Given the description of an element on the screen output the (x, y) to click on. 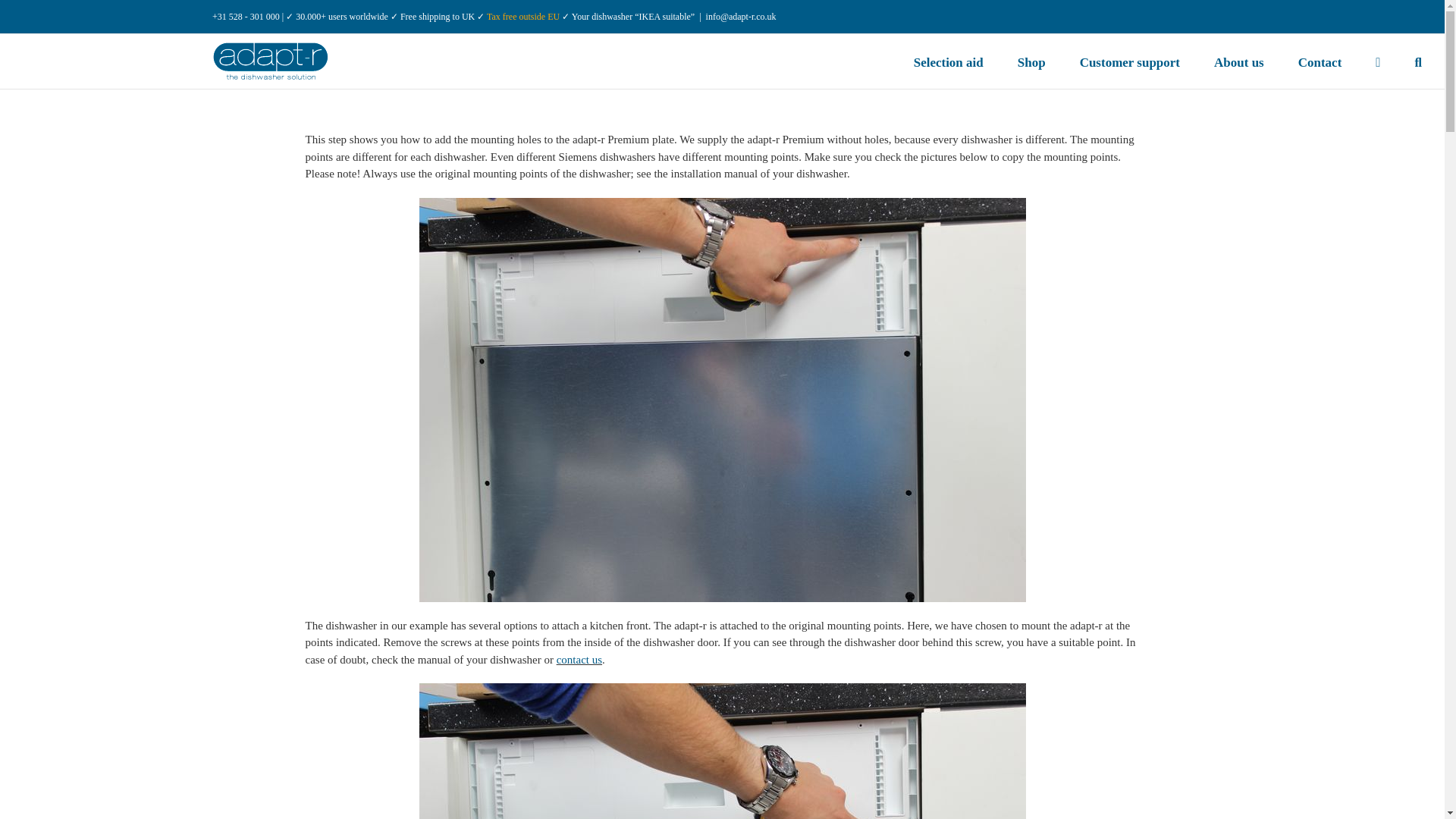
Search (1418, 61)
About us (1238, 61)
Contact (1320, 61)
Customer support (1129, 61)
Shop (1031, 61)
Selection aid (949, 61)
